Given the description of an element on the screen output the (x, y) to click on. 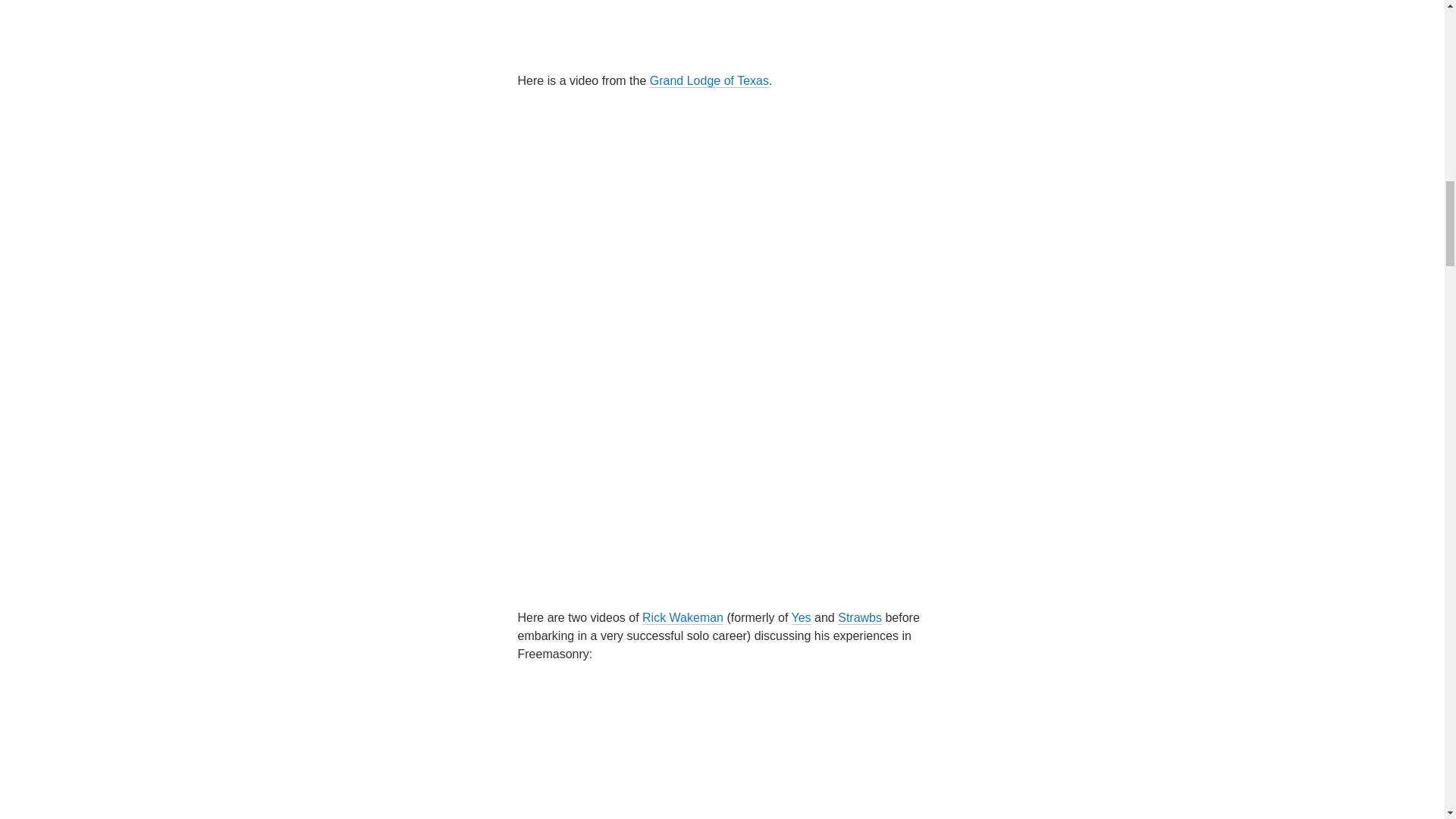
Yes (801, 617)
Grand Lodge of Texas (708, 80)
Rick Wakeman (682, 617)
Strawbs (860, 617)
